Given the description of an element on the screen output the (x, y) to click on. 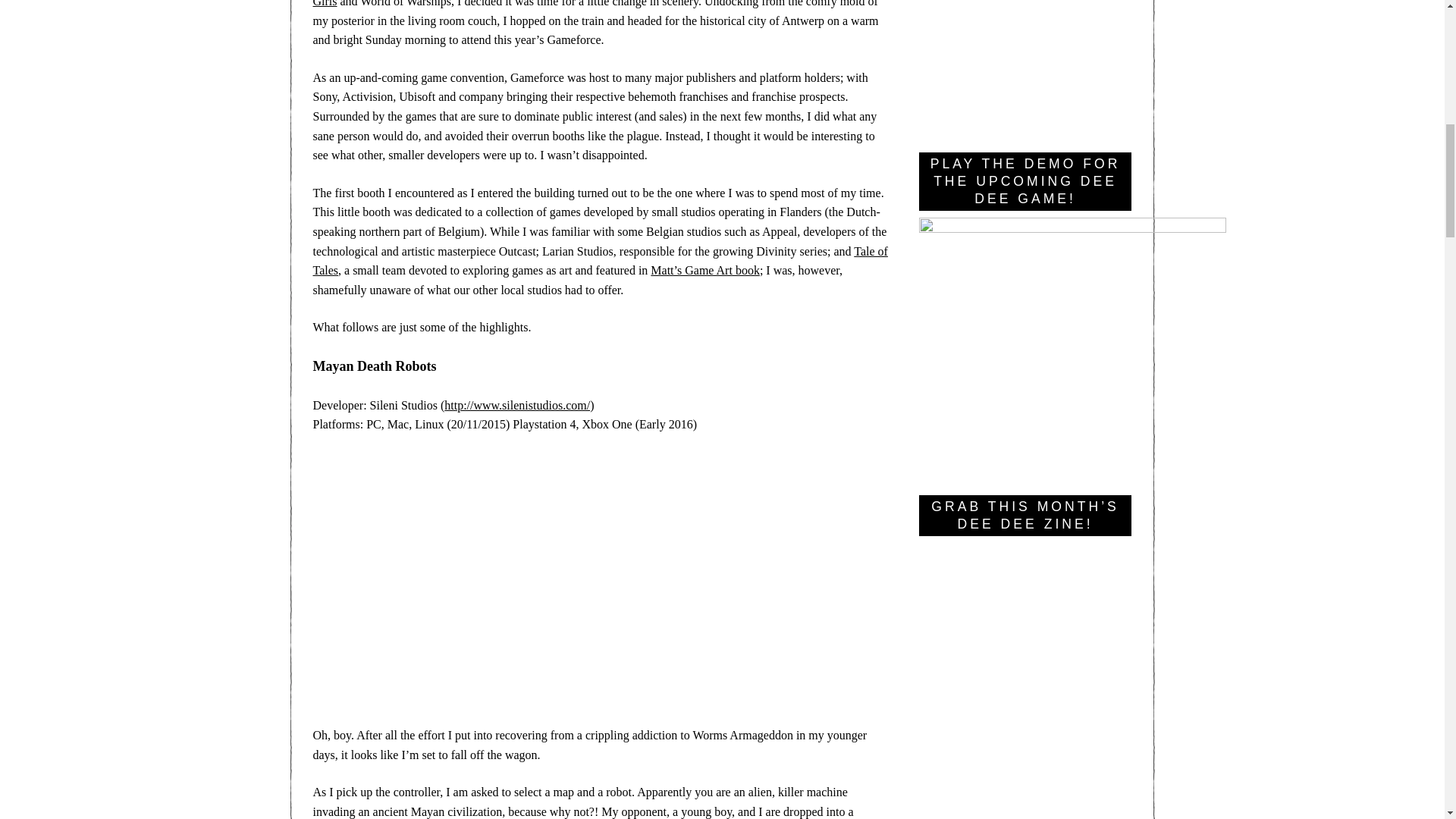
Tale of Tales (1396, 20)
Danganronpa: Ultra Despair Girls (599, 260)
